Given the description of an element on the screen output the (x, y) to click on. 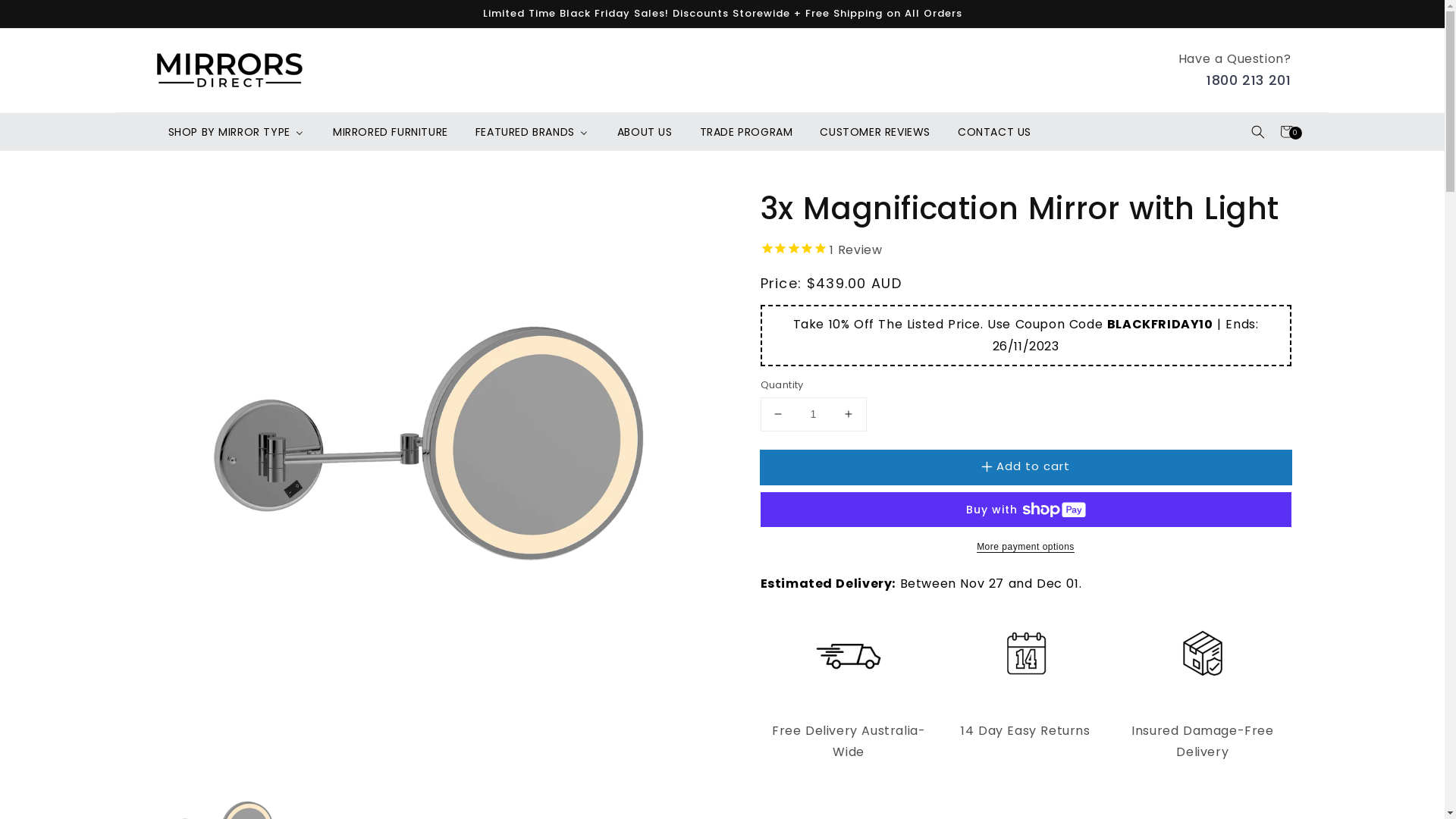
MIRRORED FURNITURE Element type: text (389, 131)
Add to cart Element type: text (1024, 467)
CONTACT US Element type: text (993, 131)
Skip to product information Element type: text (198, 205)
Decrease quantity for 3x Magnification Mirror with Light Element type: text (778, 414)
Increase quantity for 3x Magnification Mirror with Light Element type: text (848, 414)
CUSTOMER REVIEWS Element type: text (874, 131)
TRADE PROGRAM Element type: text (745, 131)
1800 213 201 Element type: text (1248, 79)
FEATURED BRANDS Element type: text (531, 131)
ABOUT US Element type: text (643, 131)
Cart
0
0 items Element type: text (1286, 131)
SHOP BY MIRROR TYPE Element type: text (235, 131)
More payment options Element type: text (1024, 546)
